Given the description of an element on the screen output the (x, y) to click on. 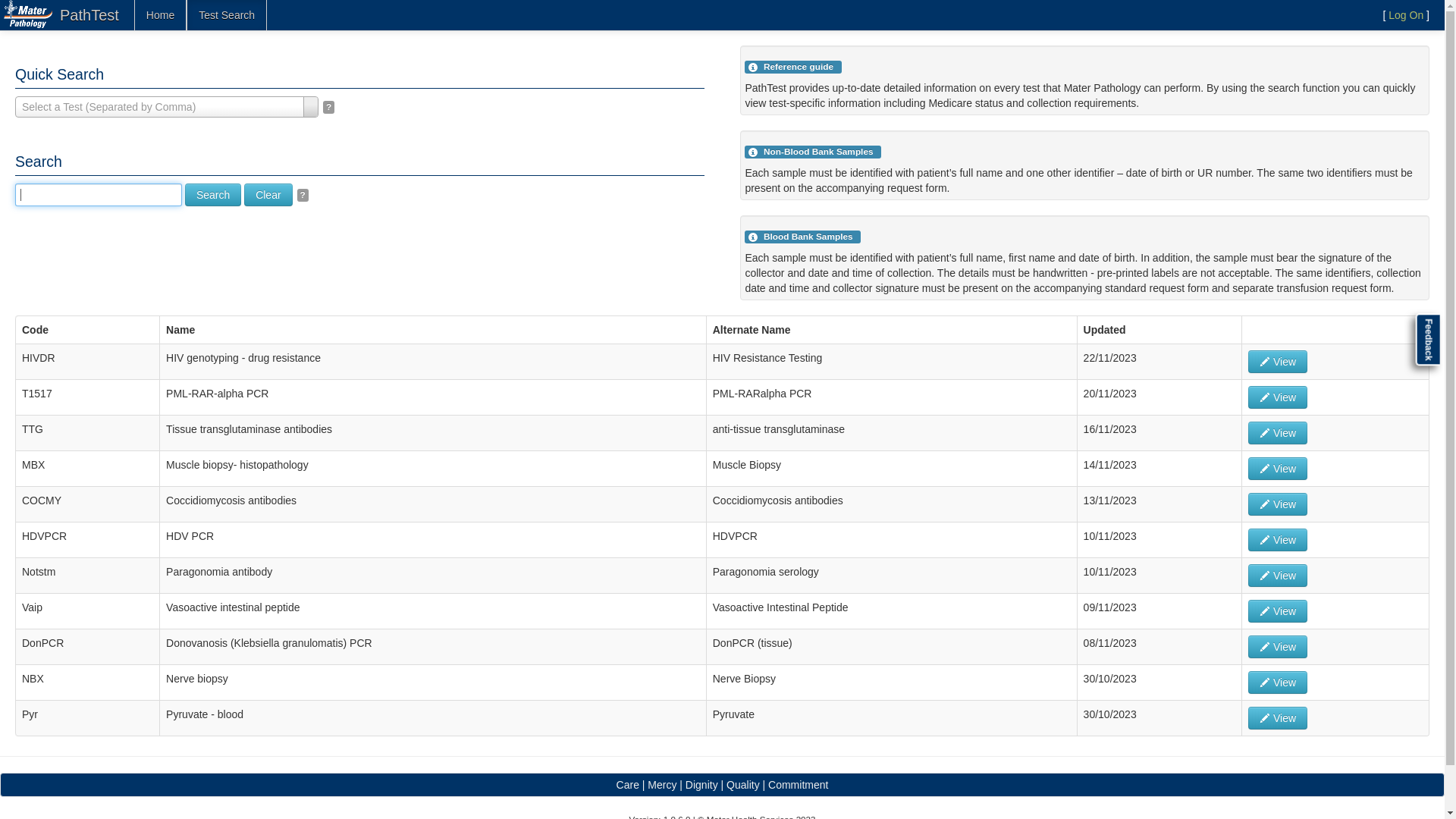
View Element type: text (1277, 503)
View Element type: text (1277, 468)
Home Element type: text (159, 15)
View Element type: text (1277, 682)
Log On Element type: text (1405, 15)
View Element type: text (1277, 575)
View Element type: text (1277, 396)
View Element type: text (1277, 361)
View Element type: text (1277, 432)
Non-Blood Bank Samples Element type: hover (752, 152)
Clear Element type: text (267, 194)
View Element type: text (1277, 646)
Added Tests Element type: hover (752, 67)
View Element type: text (1277, 610)
PathTest Element type: text (89, 15)
Search Element type: text (213, 194)
Blood Bank Samples Element type: hover (752, 237)
Select a Test (Separated by Comma) Element type: text (166, 106)
Test Search Element type: text (226, 15)
View Element type: text (1277, 539)
View Element type: text (1277, 717)
